Given the description of an element on the screen output the (x, y) to click on. 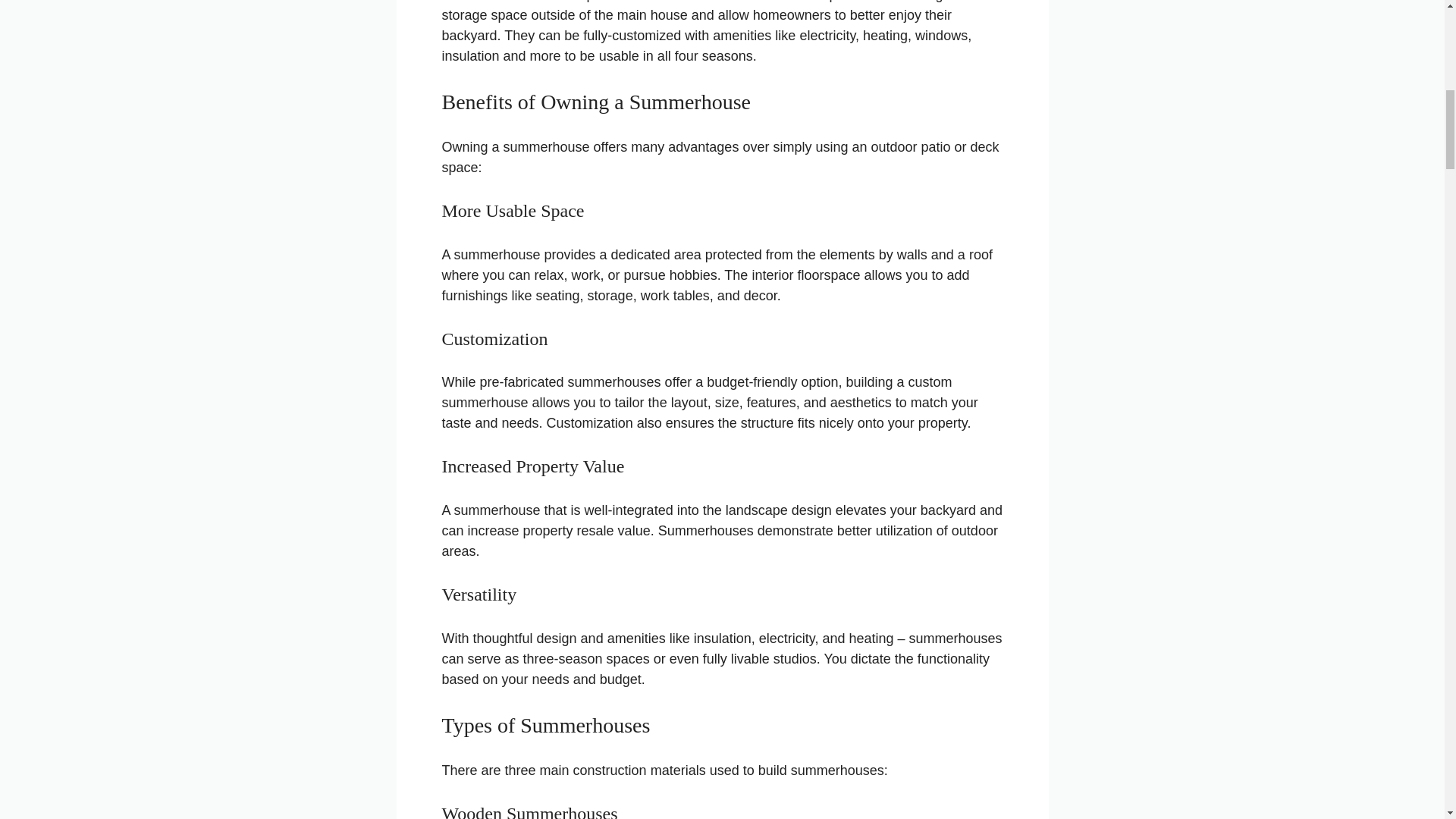
Summerhouses near me (750, 1)
